Given the description of an element on the screen output the (x, y) to click on. 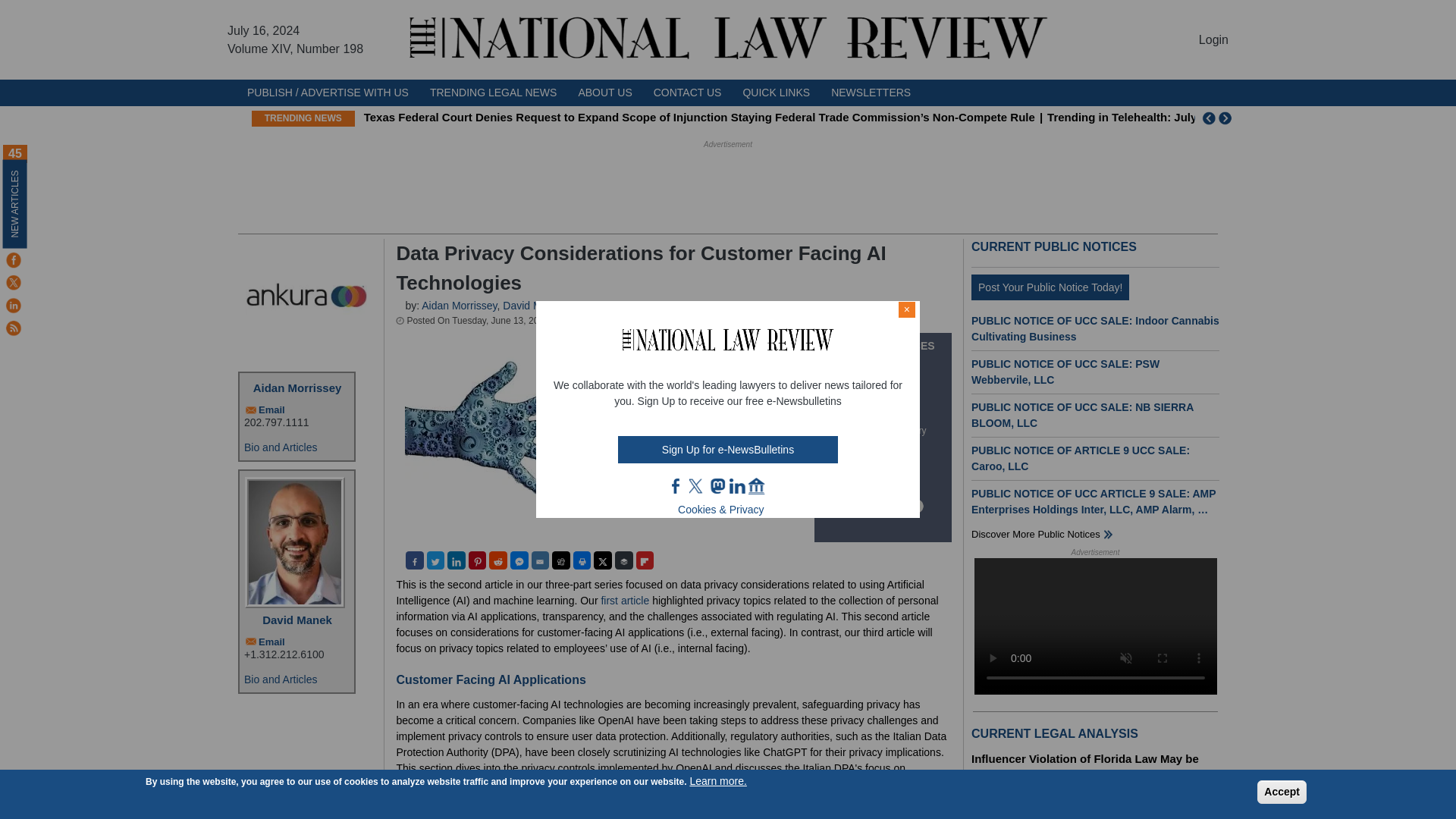
Home (727, 39)
Login (1213, 39)
